Given the description of an element on the screen output the (x, y) to click on. 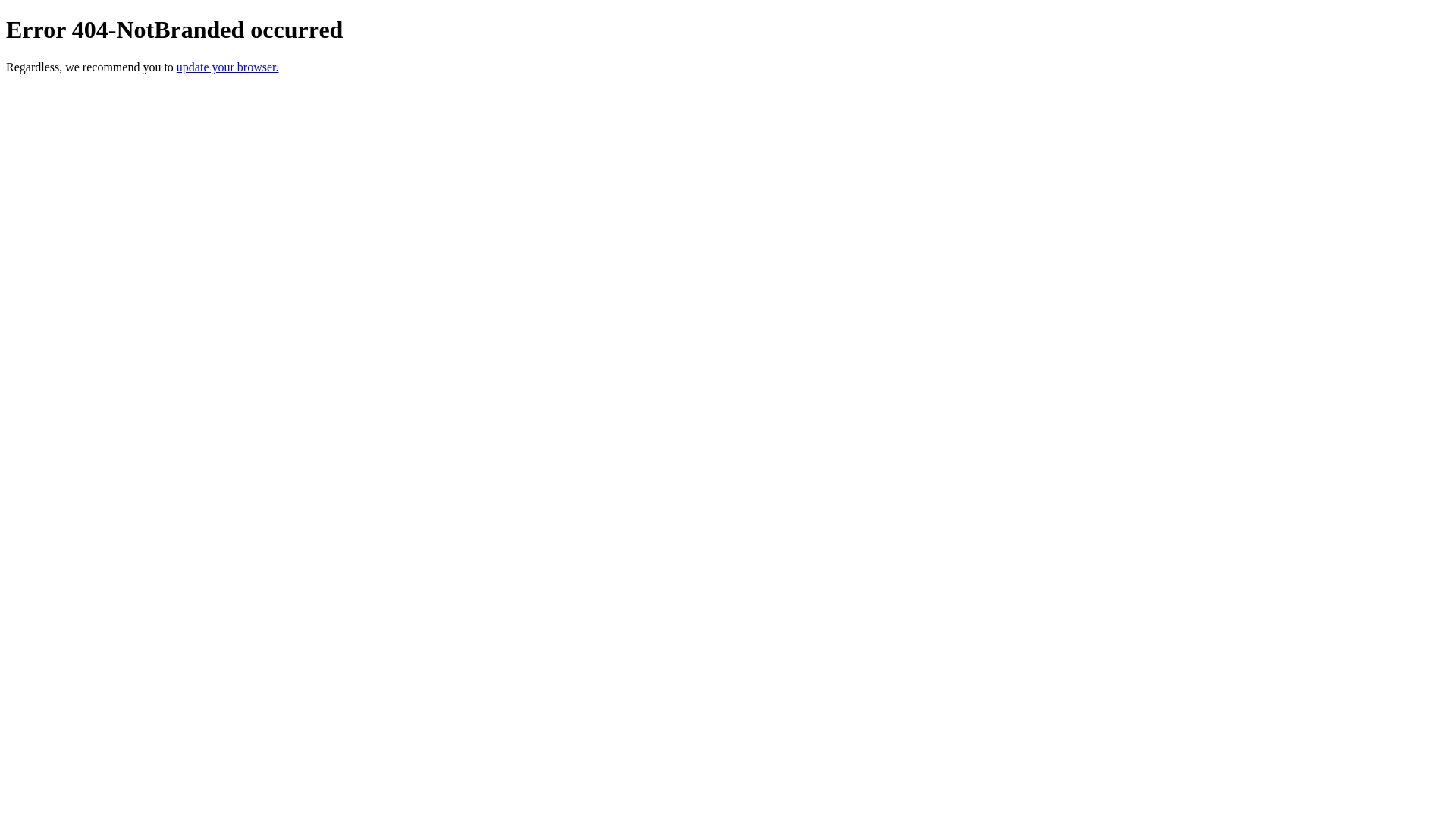
update your browser. Element type: text (227, 66)
